Given the description of an element on the screen output the (x, y) to click on. 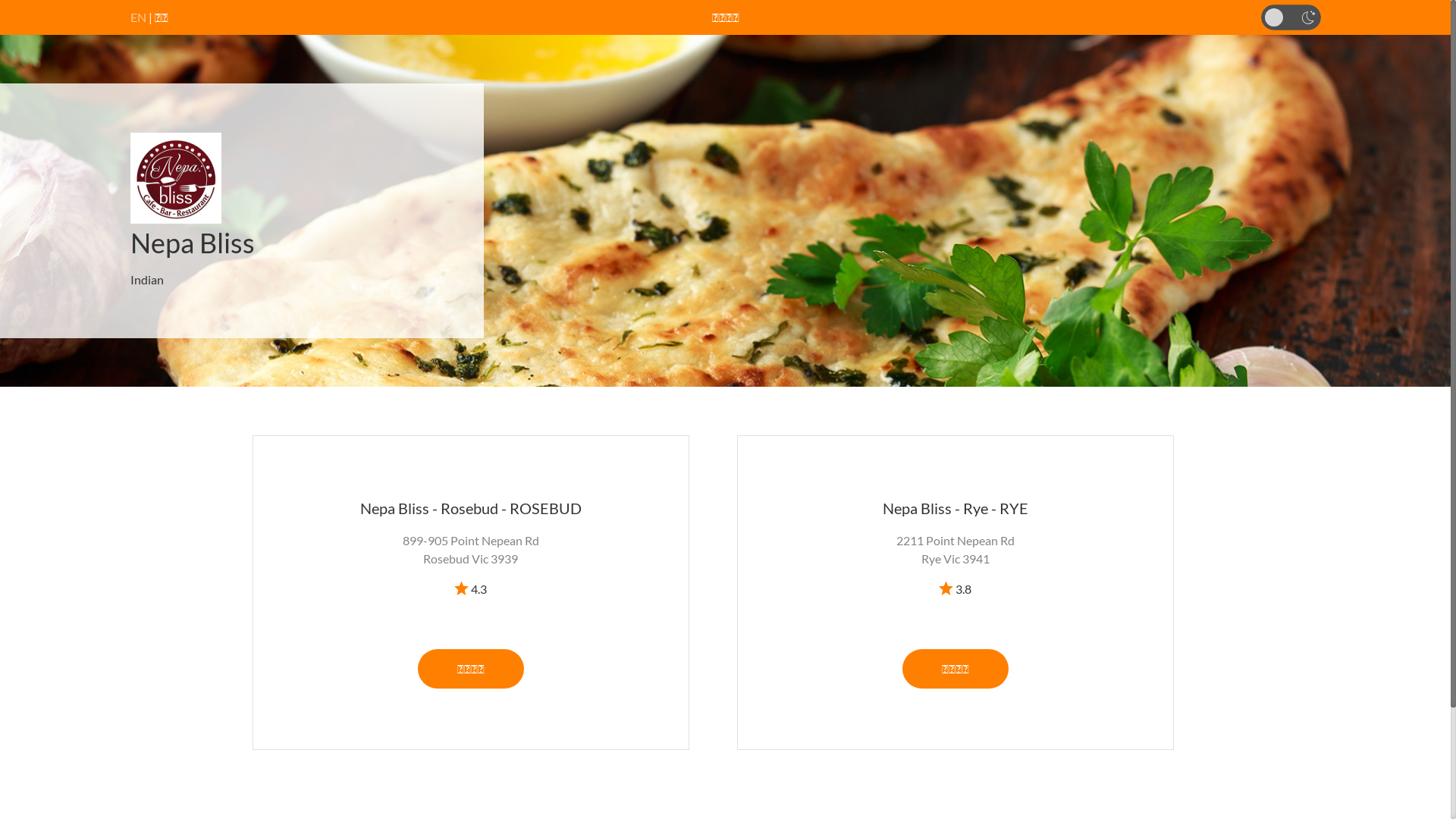
Nepa Bliss Element type: text (192, 242)
EN Element type: text (138, 16)
